Given the description of an element on the screen output the (x, y) to click on. 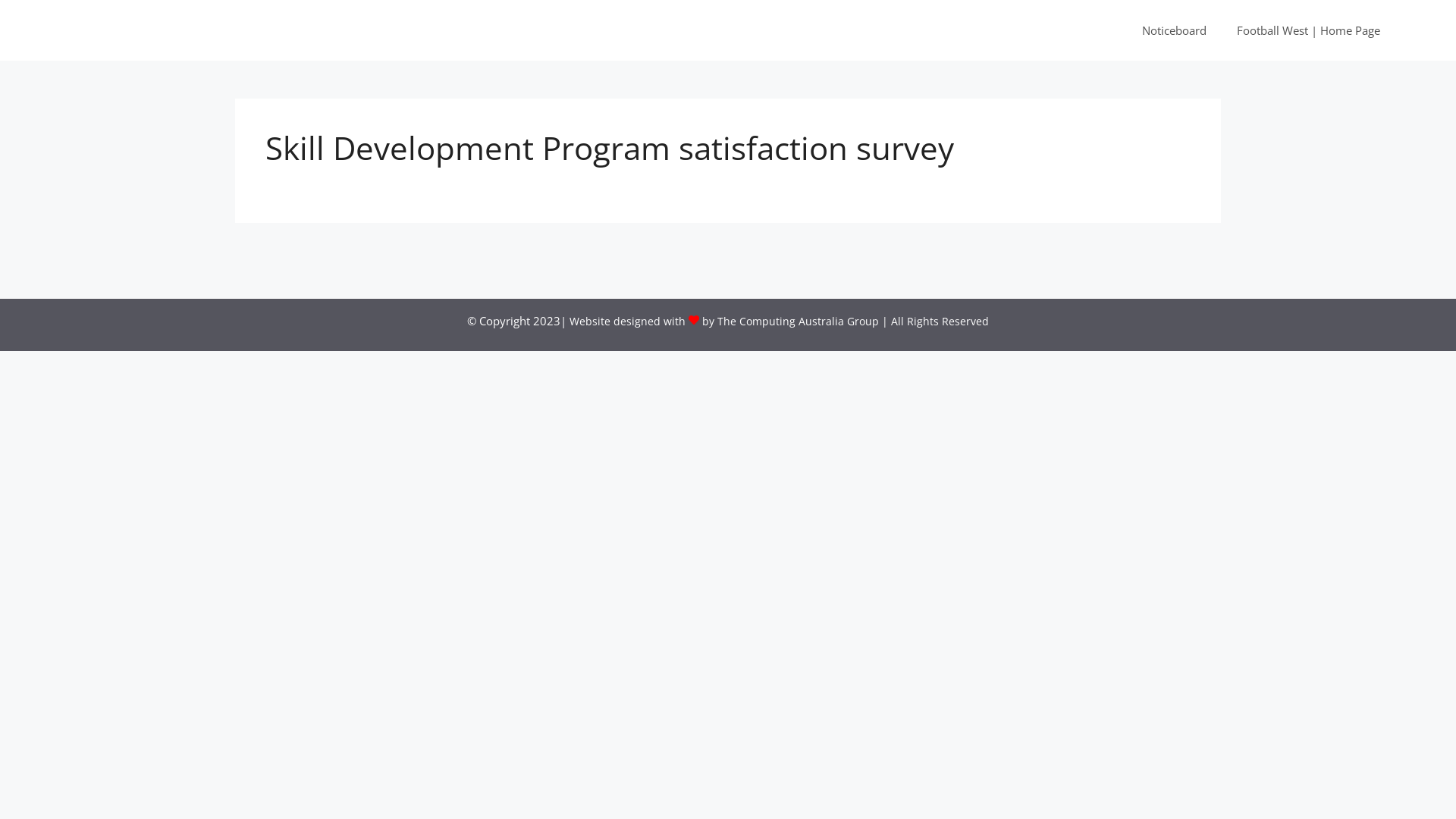
Noticeboard Element type: text (1173, 30)
The Computing Australia Group Element type: text (797, 320)
Football West | Home Page Element type: text (1308, 30)
